Given the description of an element on the screen output the (x, y) to click on. 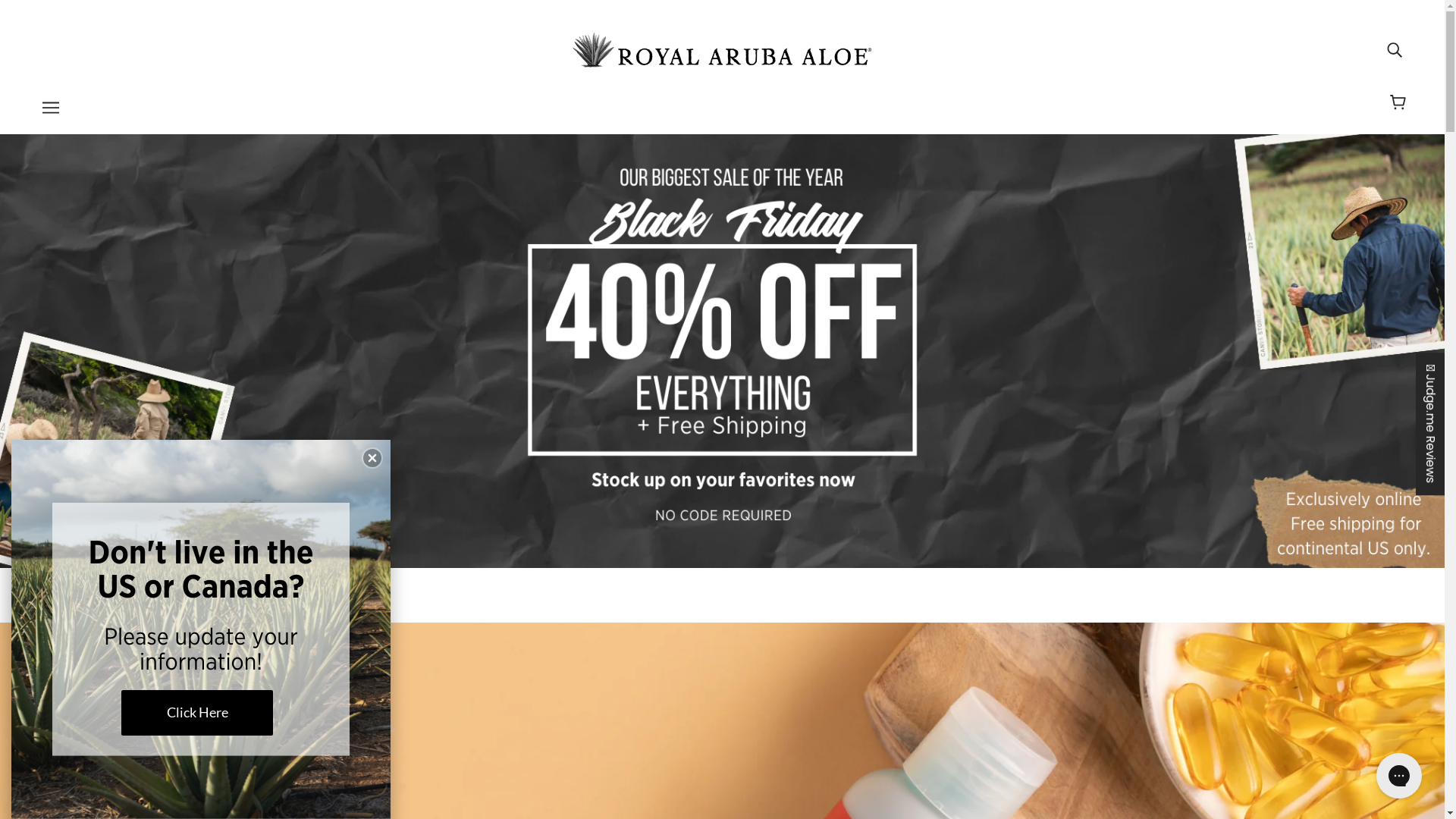
Gorgias live chat messenger Element type: hover (1398, 775)
Aruba Aloe Element type: hover (721, 47)
Close Element type: hover (372, 457)
